Given the description of an element on the screen output the (x, y) to click on. 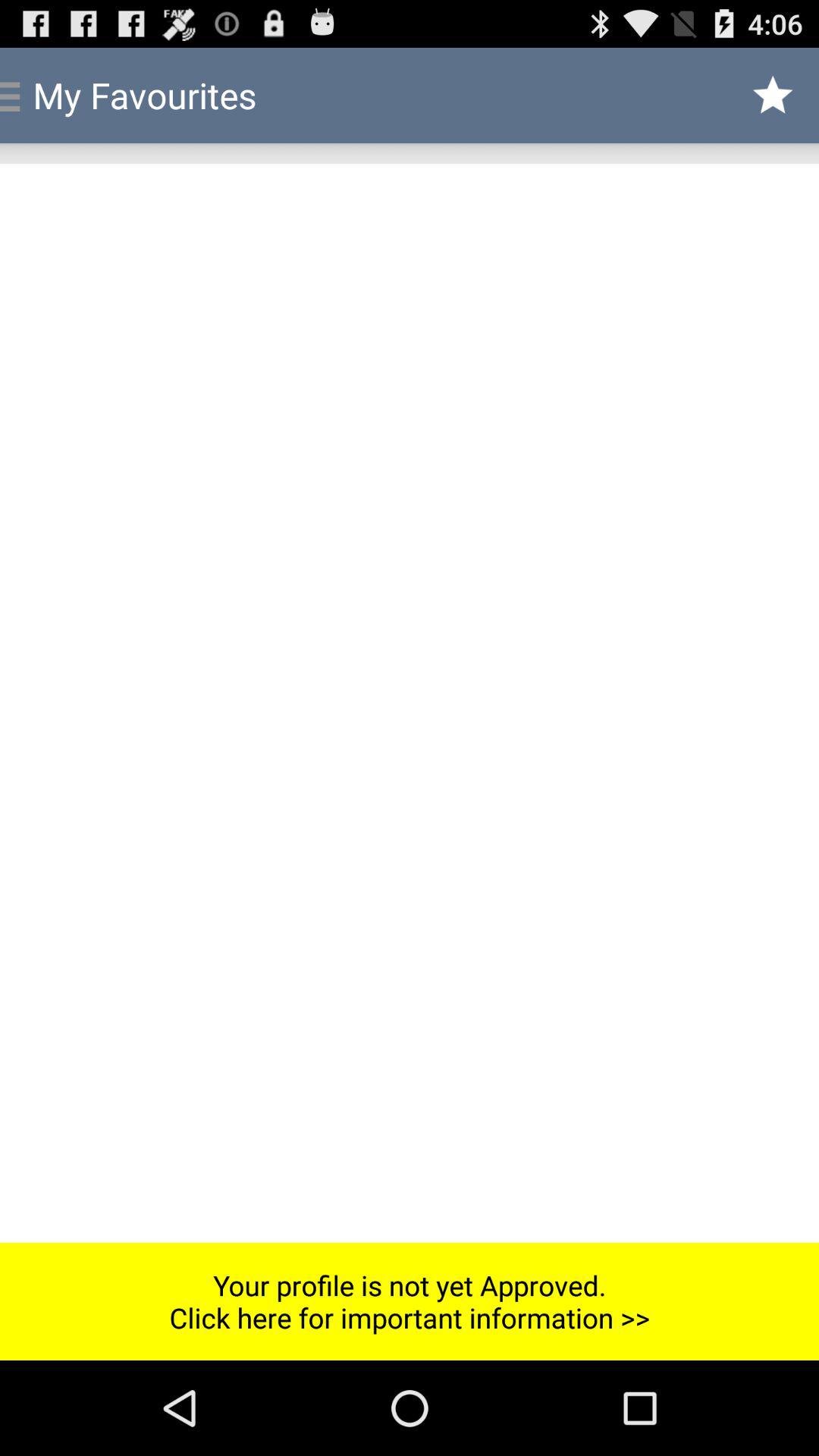
turn on item to the right of the my favourites (773, 95)
